Given the description of an element on the screen output the (x, y) to click on. 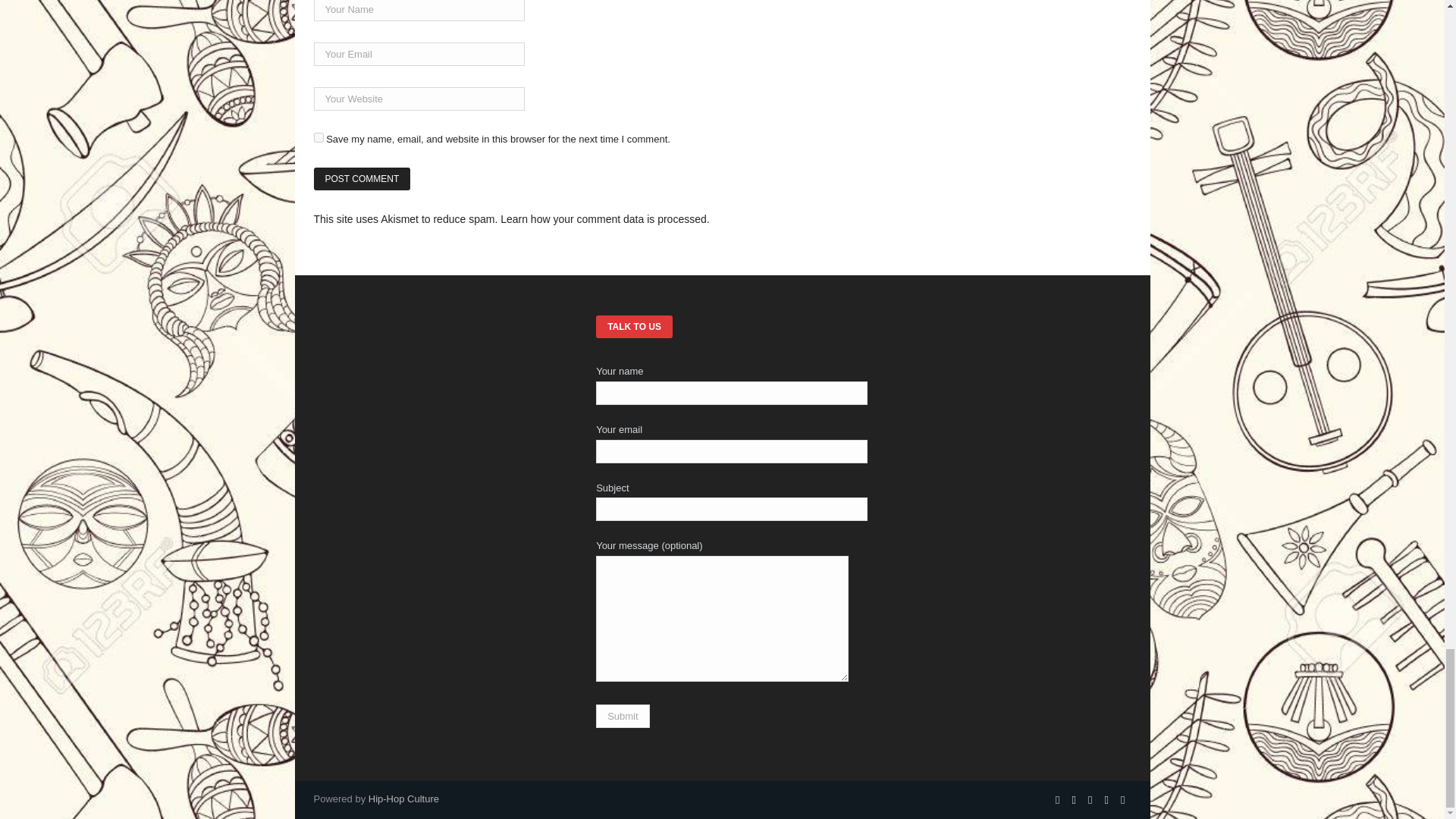
Post Comment (362, 178)
Submit (622, 716)
yes (318, 137)
